Given the description of an element on the screen output the (x, y) to click on. 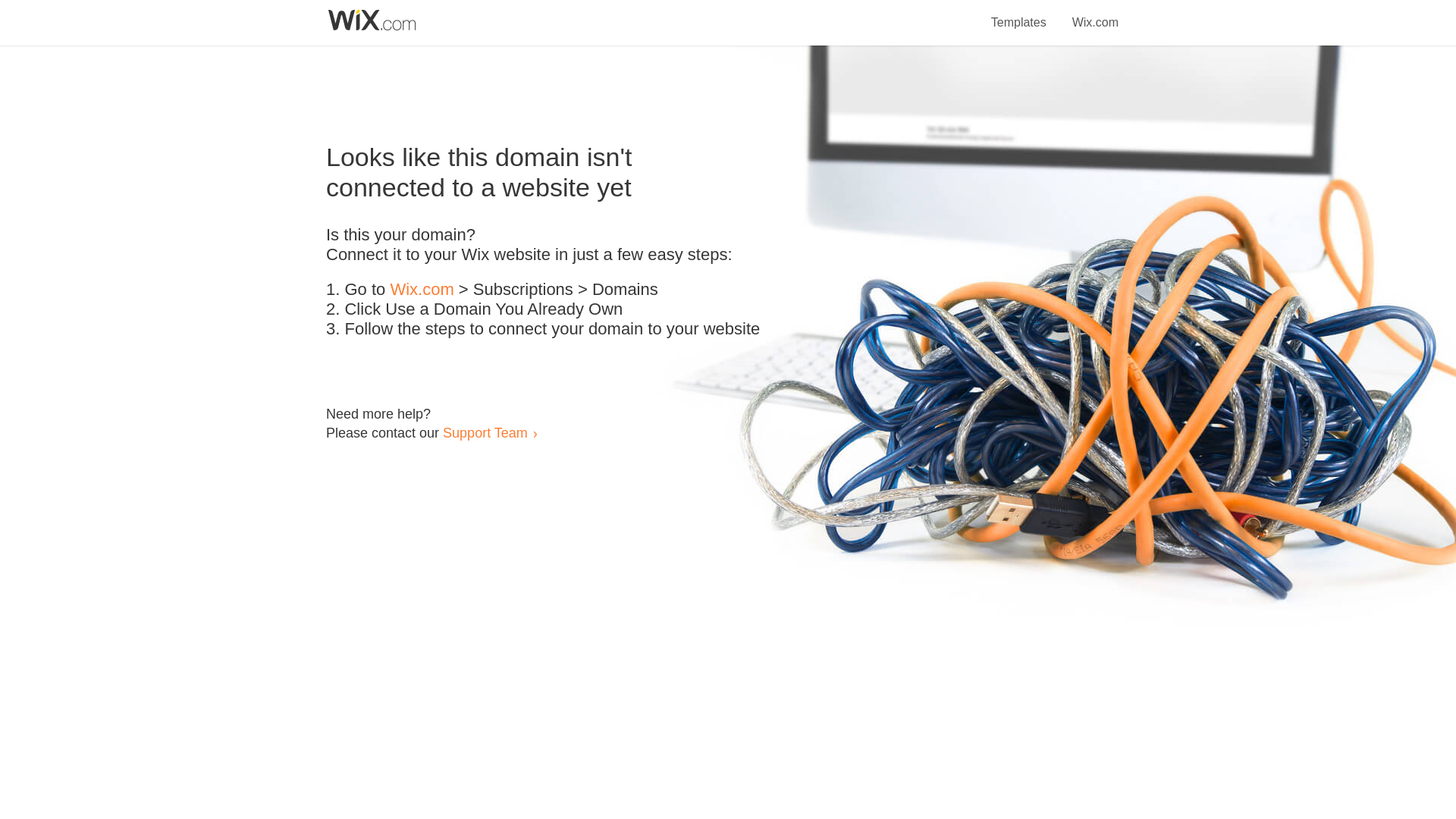
Support Team (484, 432)
Wix.com (421, 289)
Templates (1018, 14)
Wix.com (1095, 14)
